Given the description of an element on the screen output the (x, y) to click on. 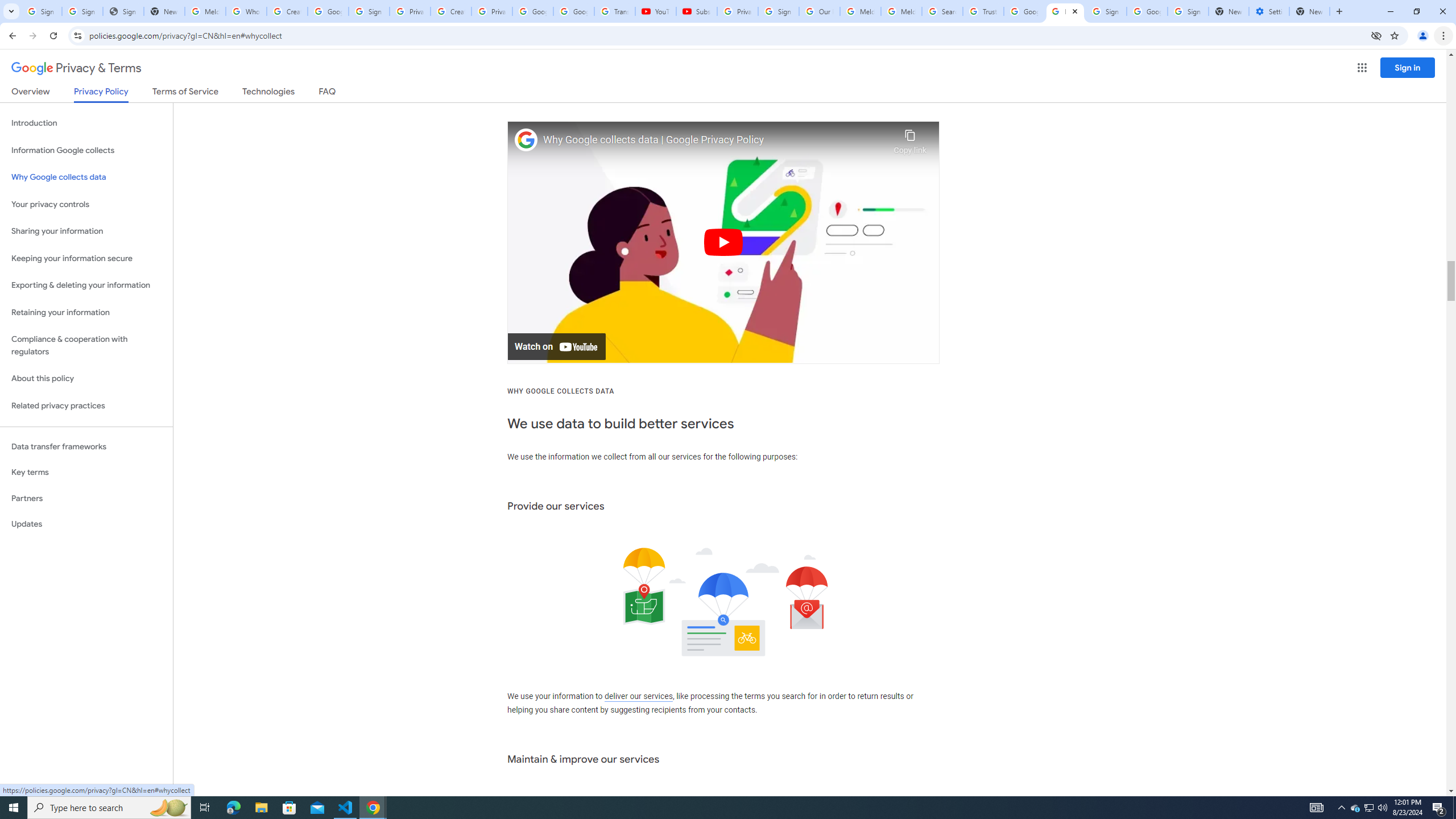
Watch on YouTube (556, 346)
Sign in - Google Accounts (1187, 11)
About this policy (86, 379)
Sign in - Google Accounts (777, 11)
Why Google collects data | Google Privacy Policy (715, 140)
Who is my administrator? - Google Account Help (246, 11)
New Tab (1309, 11)
